Given the description of an element on the screen output the (x, y) to click on. 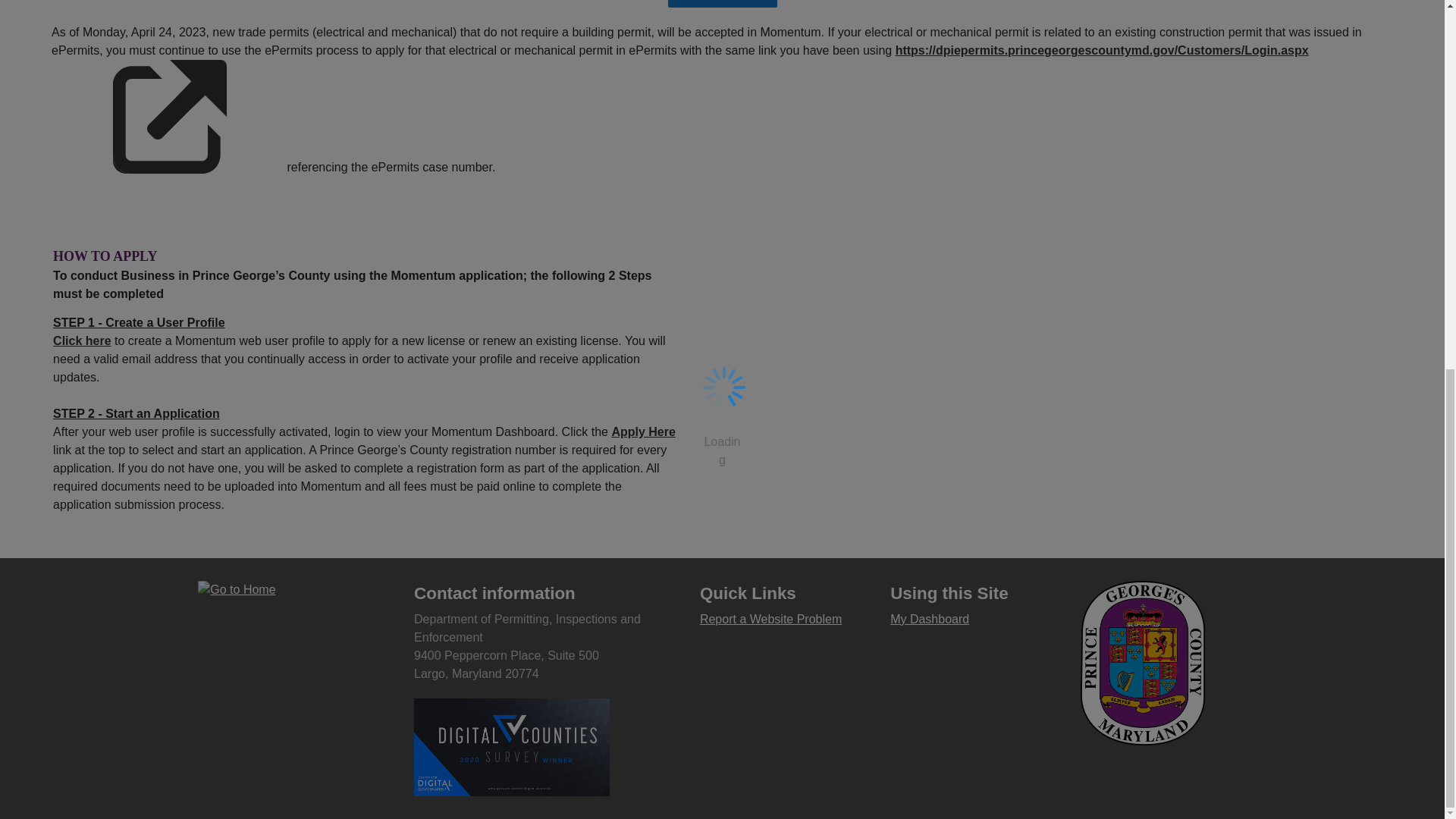
Apply Here (643, 431)
Go to Home (289, 589)
HOME (721, 3)
Report a Website Problem (770, 618)
Click here (81, 340)
My Dashboard (929, 618)
